Given the description of an element on the screen output the (x, y) to click on. 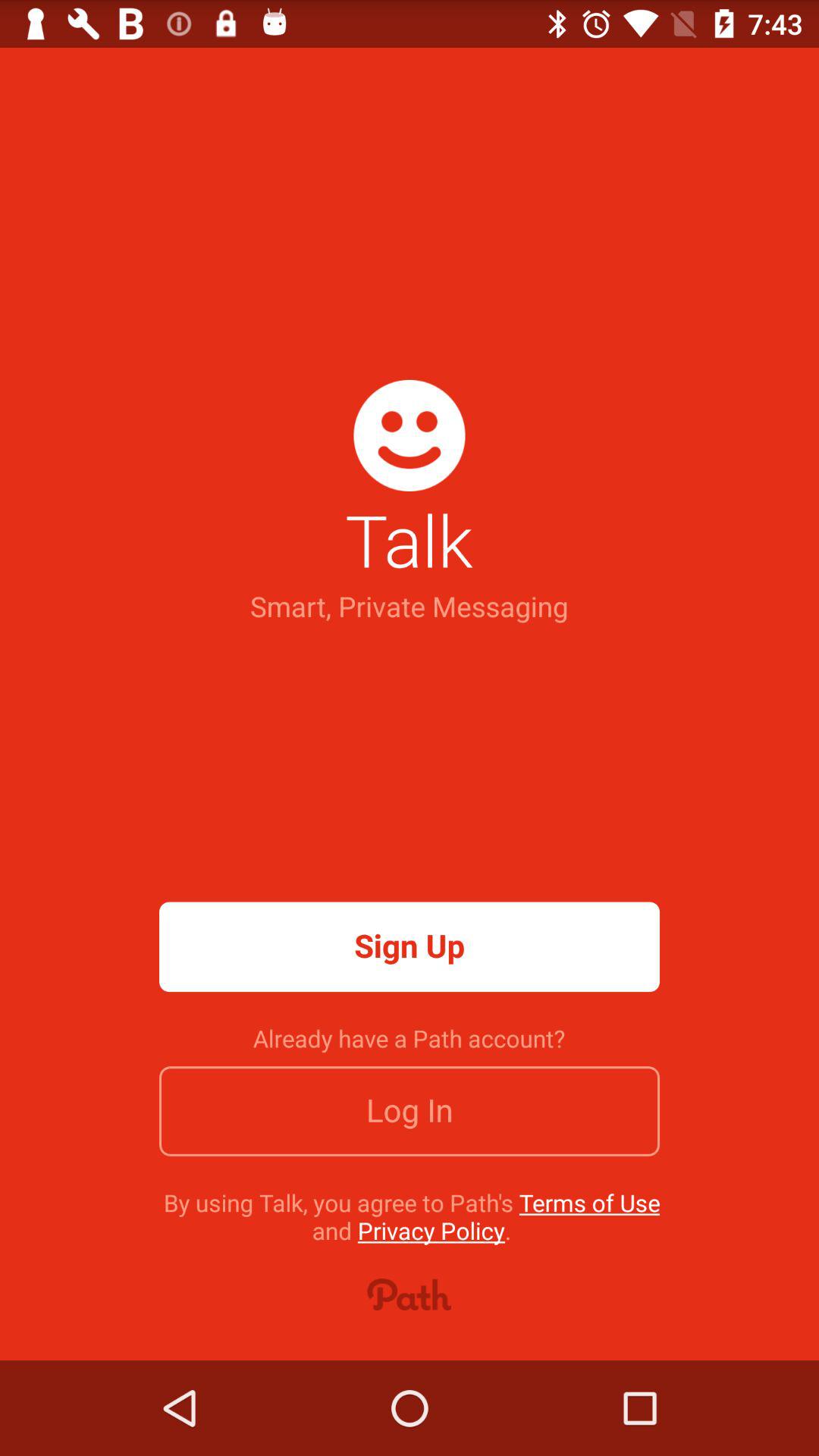
press icon below the already have a (409, 1111)
